Given the description of an element on the screen output the (x, y) to click on. 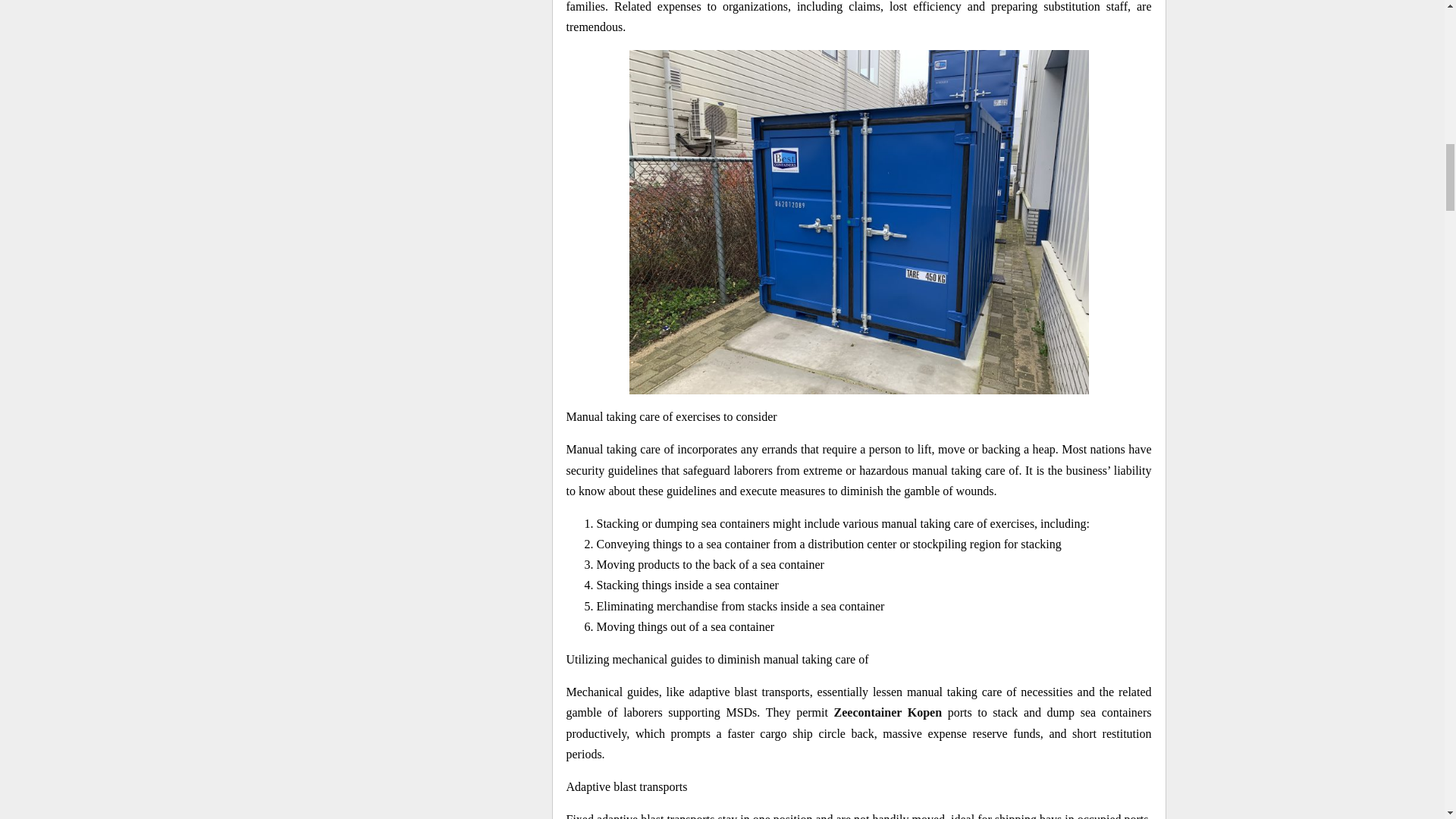
Zeecontainer Kopen (888, 712)
